Given the description of an element on the screen output the (x, y) to click on. 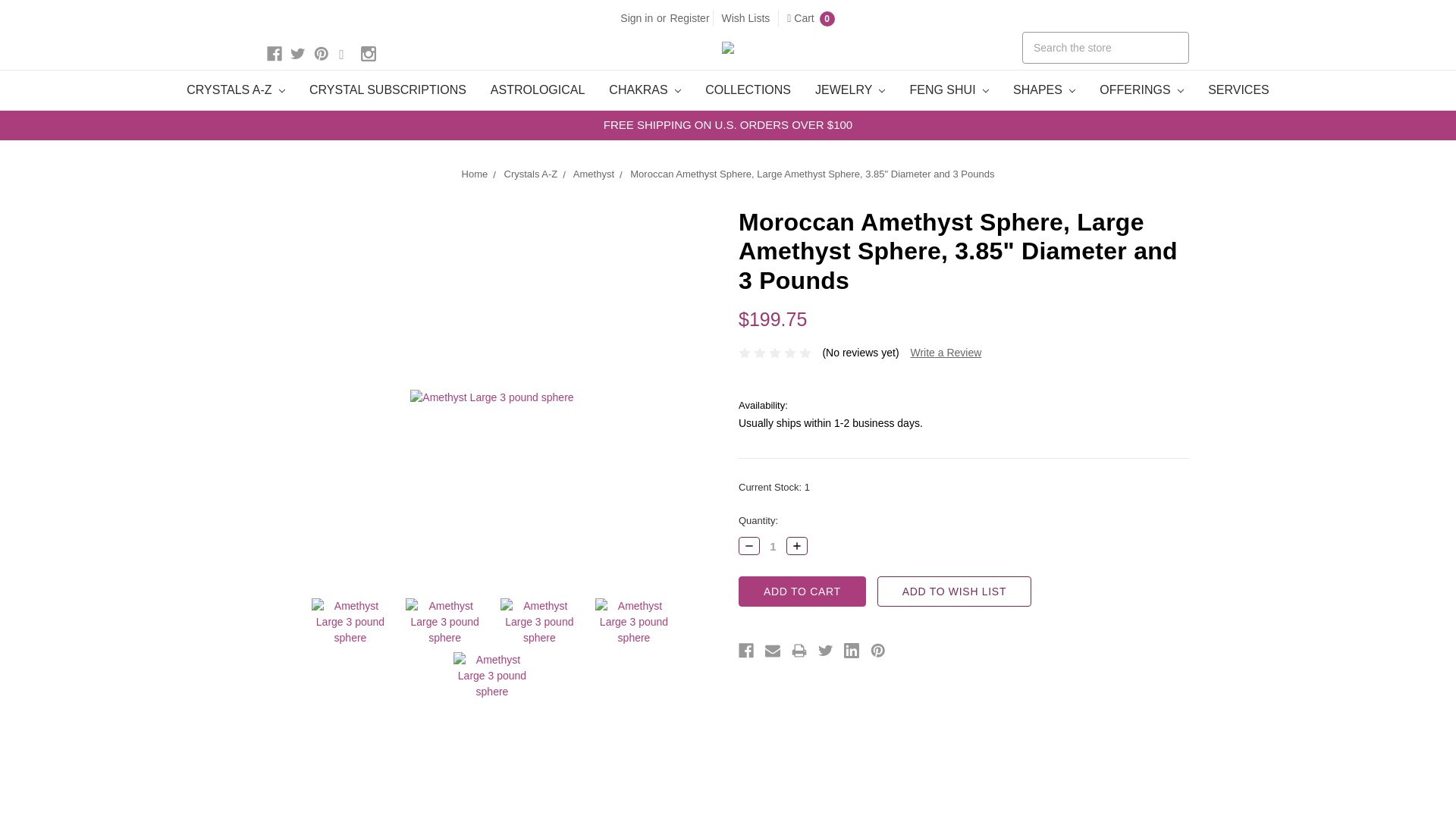
My Dream Crystals (727, 47)
Amethyst Large 3 pound sphere (350, 622)
Amethyst Large 3 pound sphere (491, 397)
Add to Cart (802, 591)
Cart 0 (810, 18)
Amethyst Large 3 pound sphere (539, 622)
Amethyst Large 3 pound sphere (491, 675)
Sign in (636, 18)
CRYSTALS A-Z (235, 89)
Amethyst Large 3 pound sphere (633, 622)
